Given the description of an element on the screen output the (x, y) to click on. 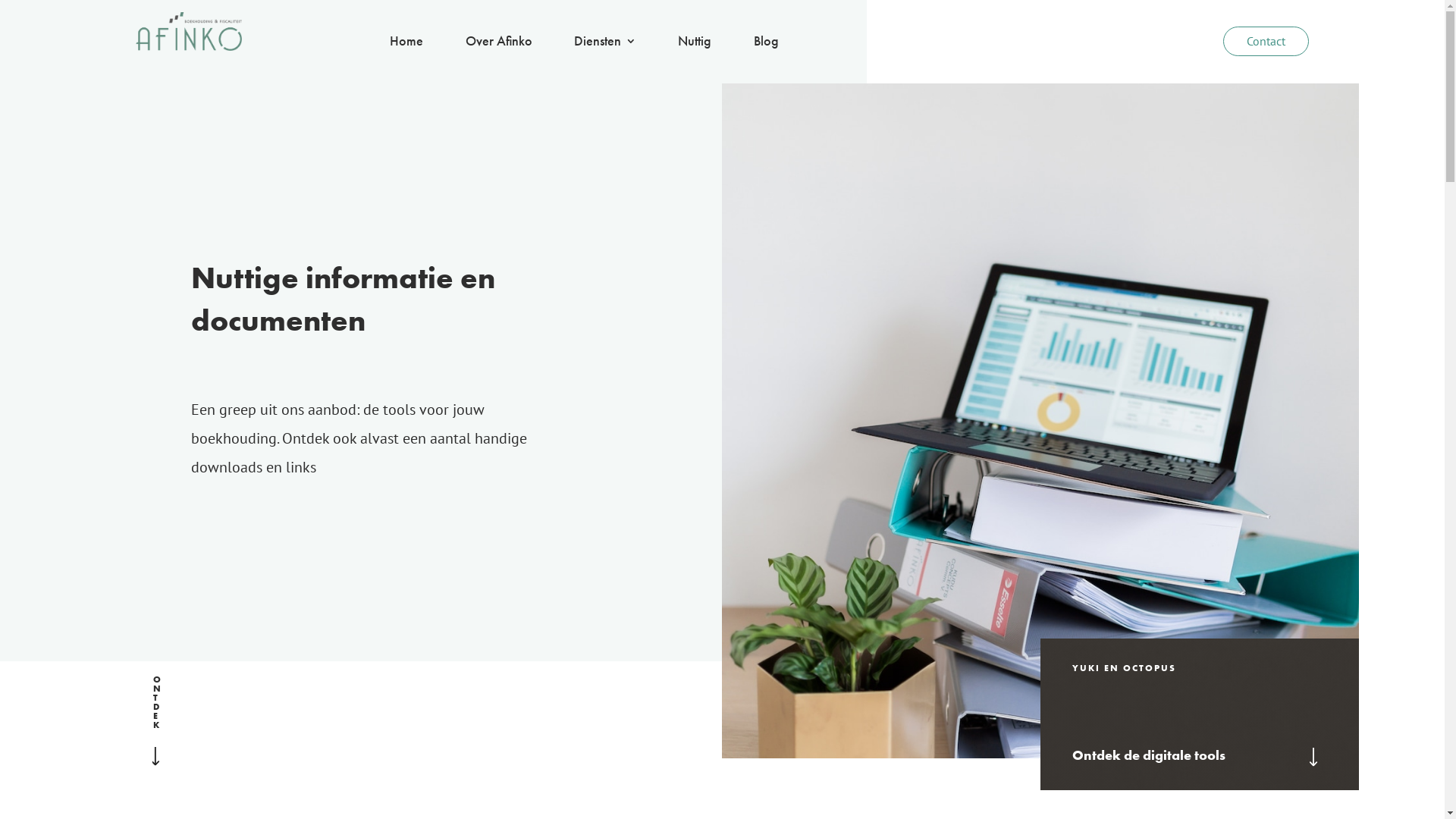
Blog Element type: text (765, 43)
Home Element type: text (406, 43)
Nuttig Element type: text (694, 43)
administratie-afinko-oudenaarde Element type: hover (1039, 420)
Diensten Element type: text (605, 43)
Contact Element type: text (1265, 41)
Over Afinko Element type: text (498, 43)
Ontdek de digitale tools Element type: text (1199, 755)
afinko-logo Element type: hover (188, 31)
